Given the description of an element on the screen output the (x, y) to click on. 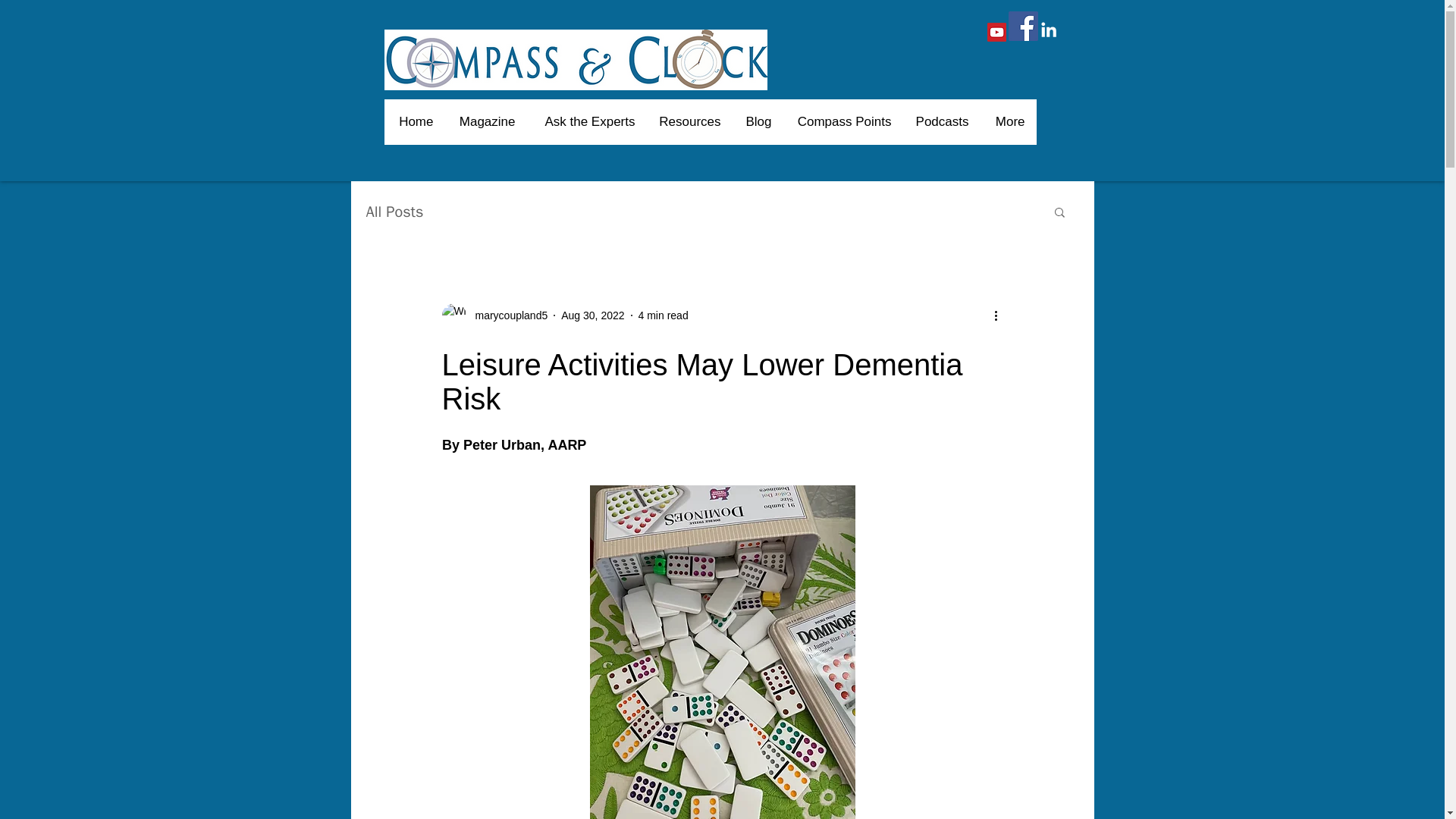
marycoupland5 (506, 315)
Aug 30, 2022 (592, 315)
Resources (689, 121)
Magazine (484, 121)
Compass Points (842, 121)
4 min read (663, 315)
All Posts (394, 211)
marycoupland5 (494, 315)
Ask the Experts (585, 121)
Home (415, 121)
Blog (757, 121)
Podcasts (940, 121)
More (1007, 121)
